Given the description of an element on the screen output the (x, y) to click on. 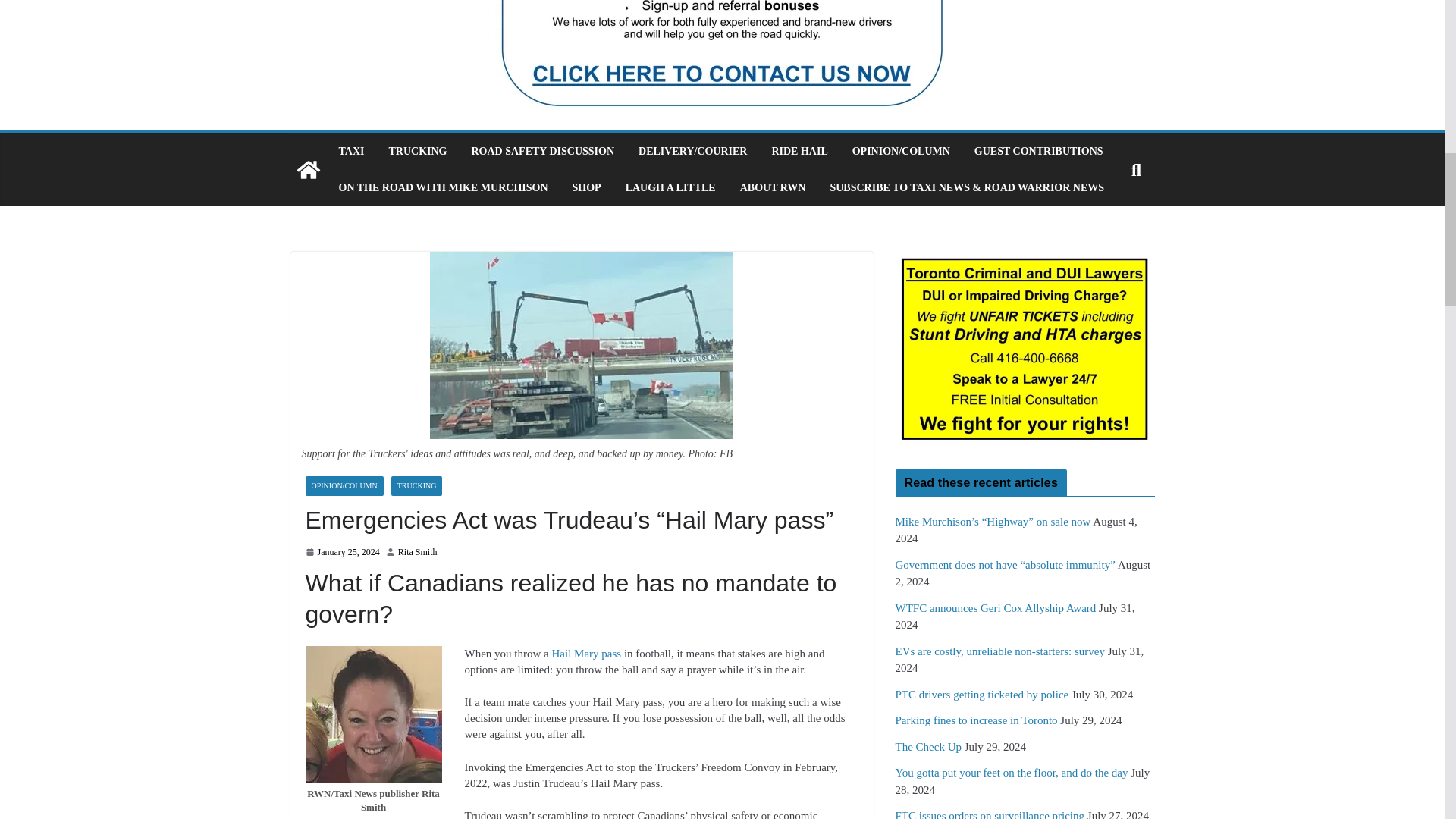
TRUCKING (417, 151)
January 25, 2024 (341, 552)
TAXI (350, 151)
Rita Smith (417, 552)
ABOUT RWN (772, 188)
LAUGH A LITTLE (671, 188)
SHOP (586, 188)
Rita Smith (417, 552)
TRUCKING (416, 485)
RIDE HAIL (799, 151)
